Given the description of an element on the screen output the (x, y) to click on. 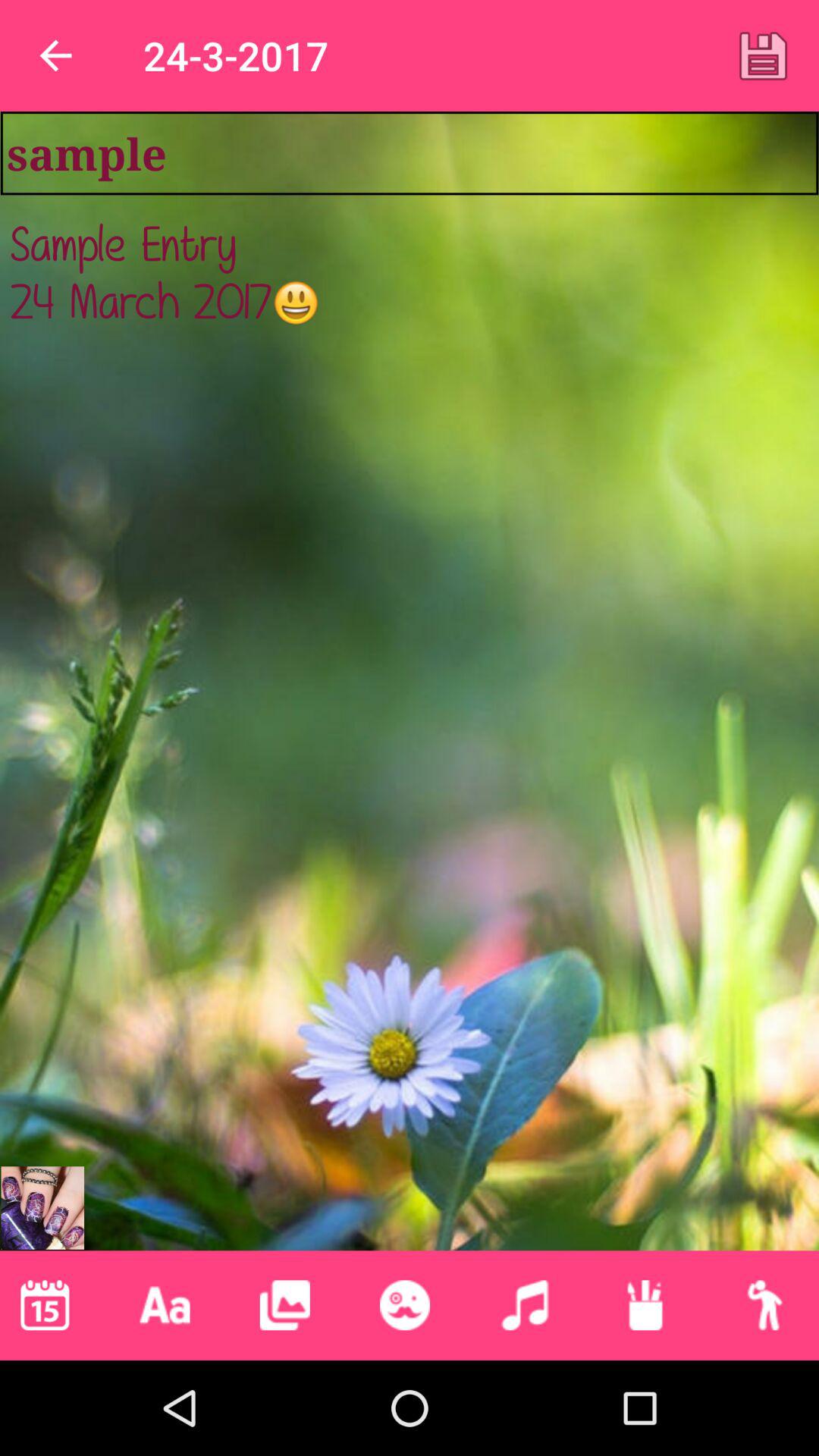
open the item below the sample entry 24 item (164, 1305)
